Given the description of an element on the screen output the (x, y) to click on. 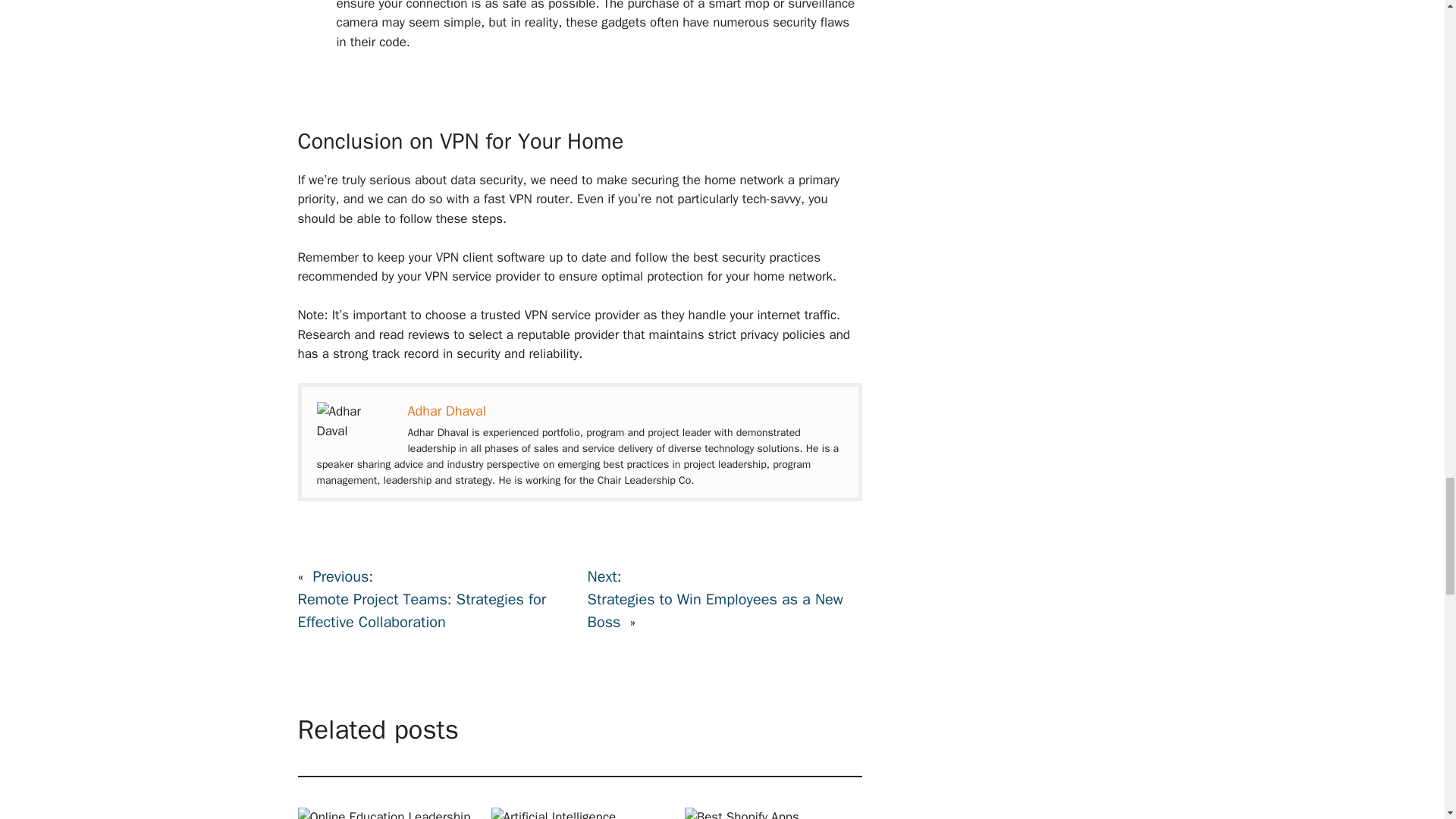
Defend Your Home Network With A Vpn For Home 4 (355, 430)
